Given the description of an element on the screen output the (x, y) to click on. 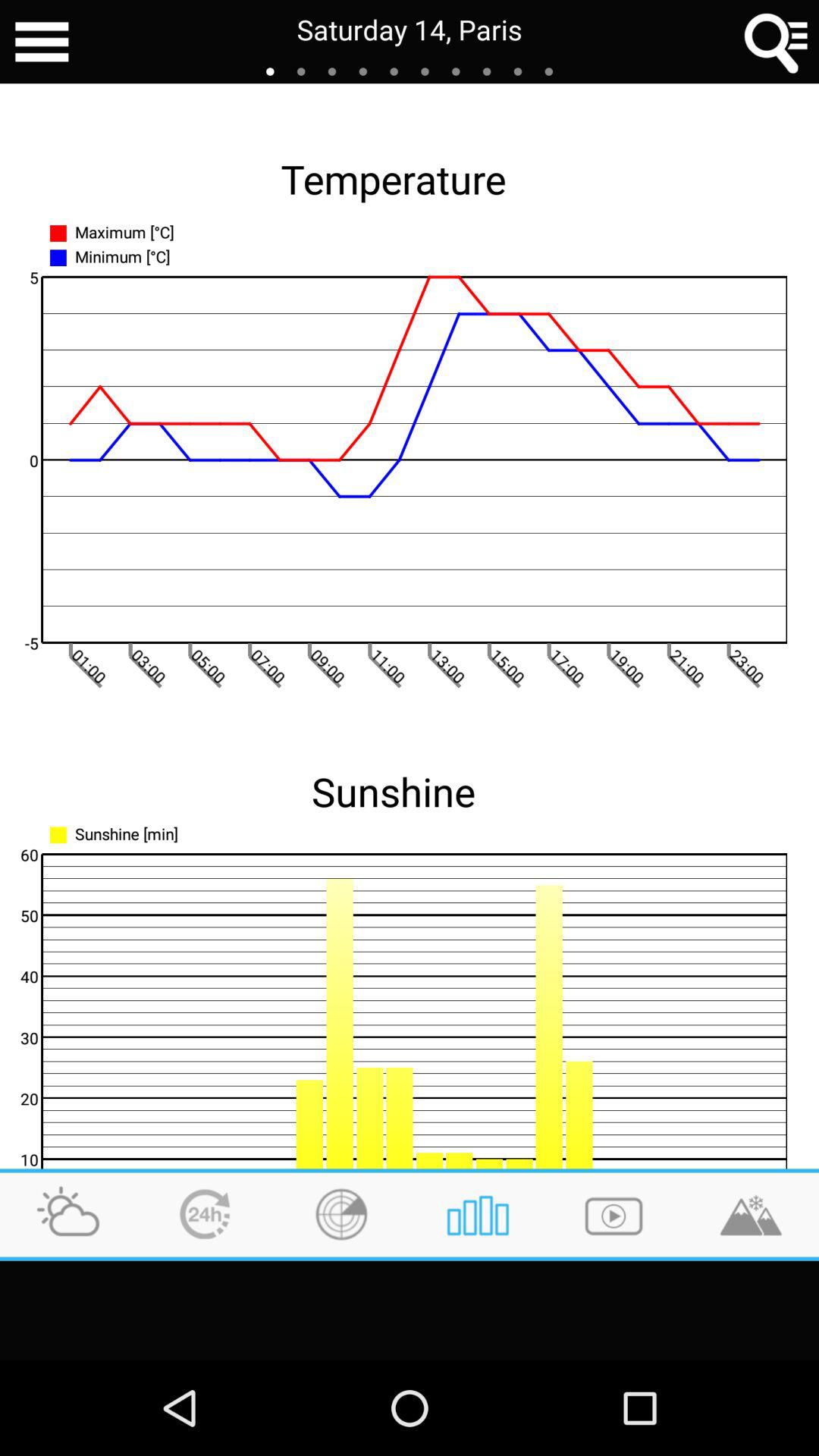
open drop down menu (41, 41)
